Given the description of an element on the screen output the (x, y) to click on. 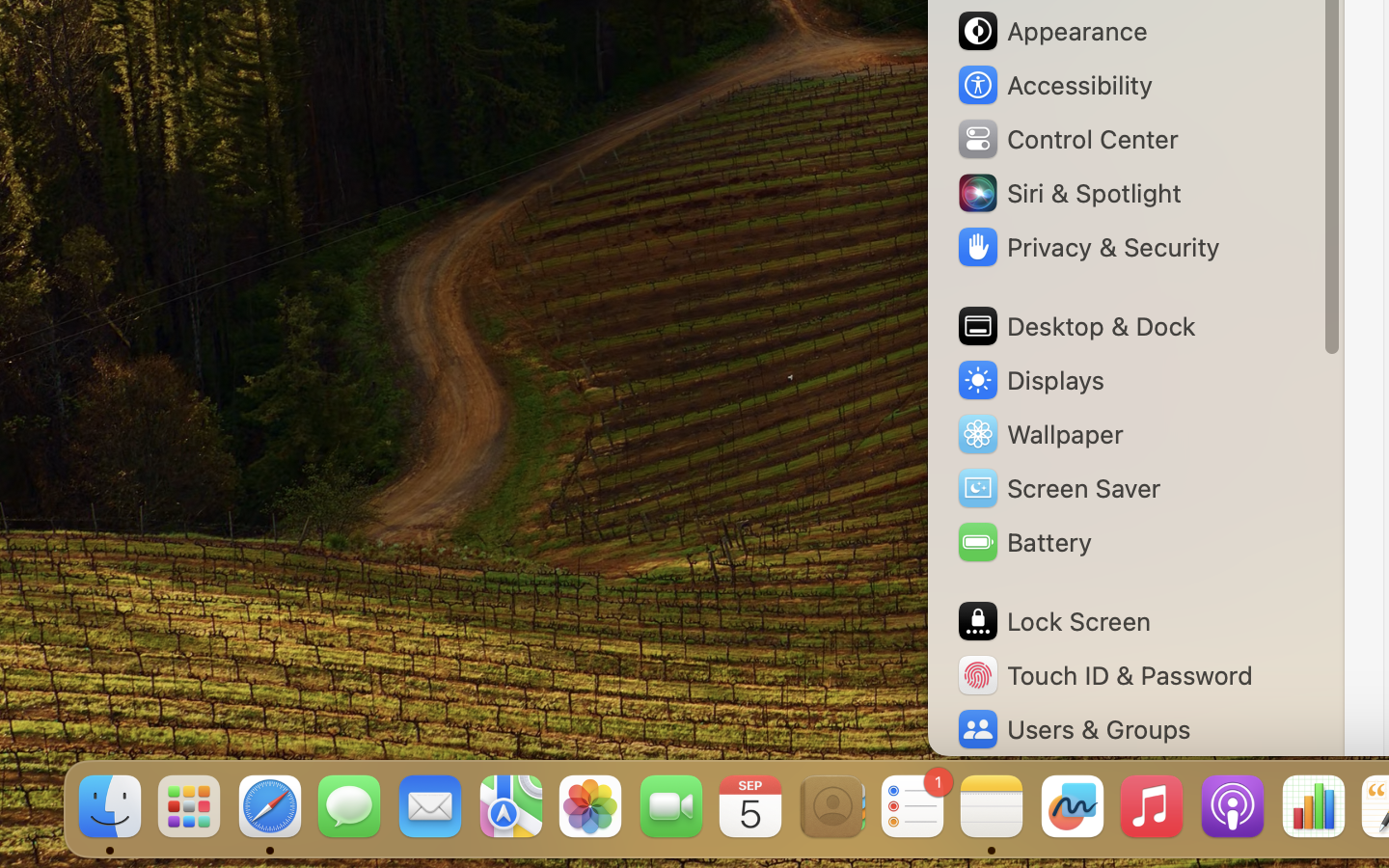
Screen Saver Element type: AXStaticText (1057, 487)
Accessibility Element type: AXStaticText (1053, 84)
Displays Element type: AXStaticText (1029, 379)
Battery Element type: AXStaticText (1022, 541)
Lock Screen Element type: AXStaticText (1052, 620)
